Given the description of an element on the screen output the (x, y) to click on. 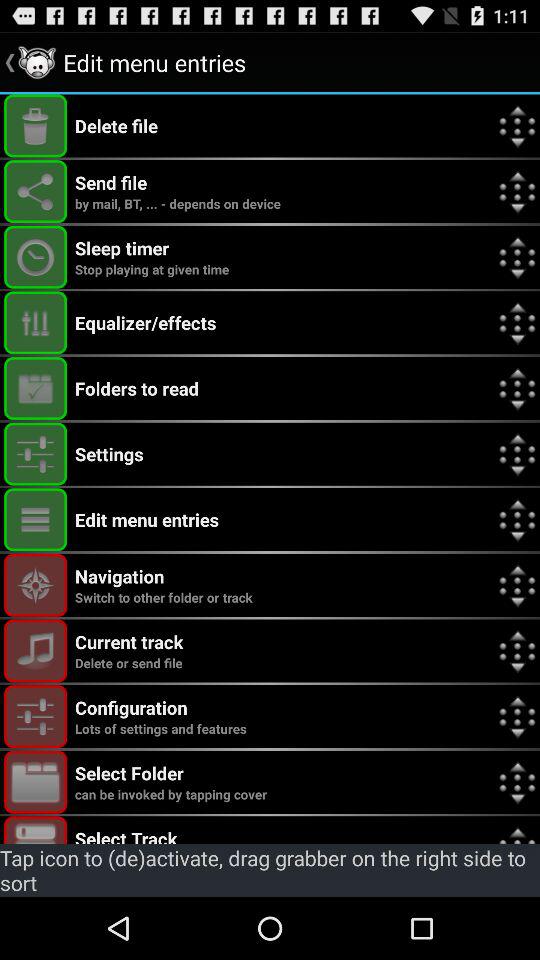
select track (35, 829)
